Given the description of an element on the screen output the (x, y) to click on. 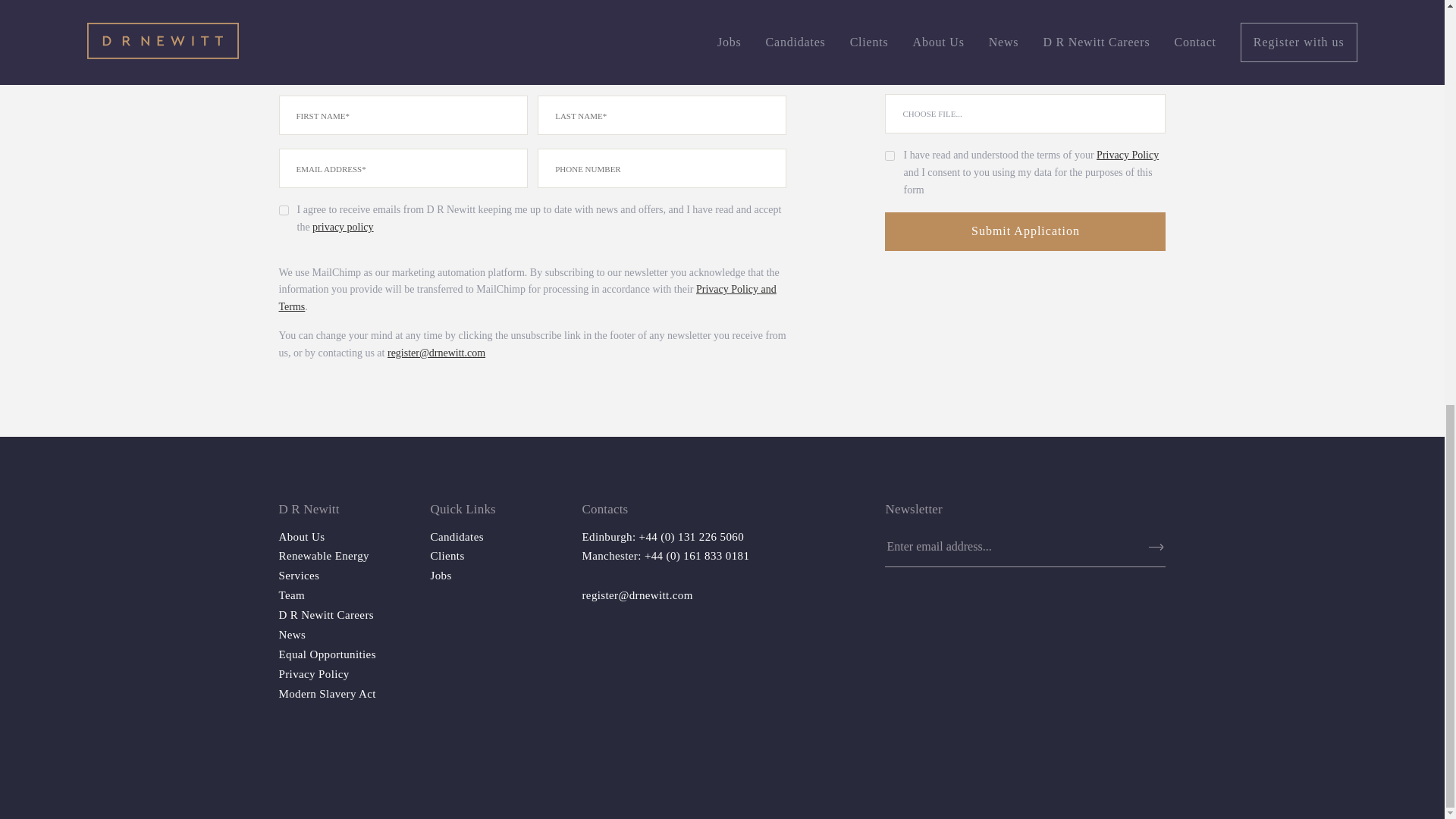
Jobs (440, 575)
Submit Application (1025, 231)
Candidates (456, 535)
D R Newitt Careers (326, 614)
About Us (301, 535)
Privacy Policy (314, 674)
privacy policy (342, 226)
on (890, 155)
News (292, 634)
Privacy Policy (1127, 154)
on (283, 210)
Team (292, 594)
Clients (447, 555)
Equal Opportunities (327, 654)
Privacy Policy and Terms (527, 297)
